Given the description of an element on the screen output the (x, y) to click on. 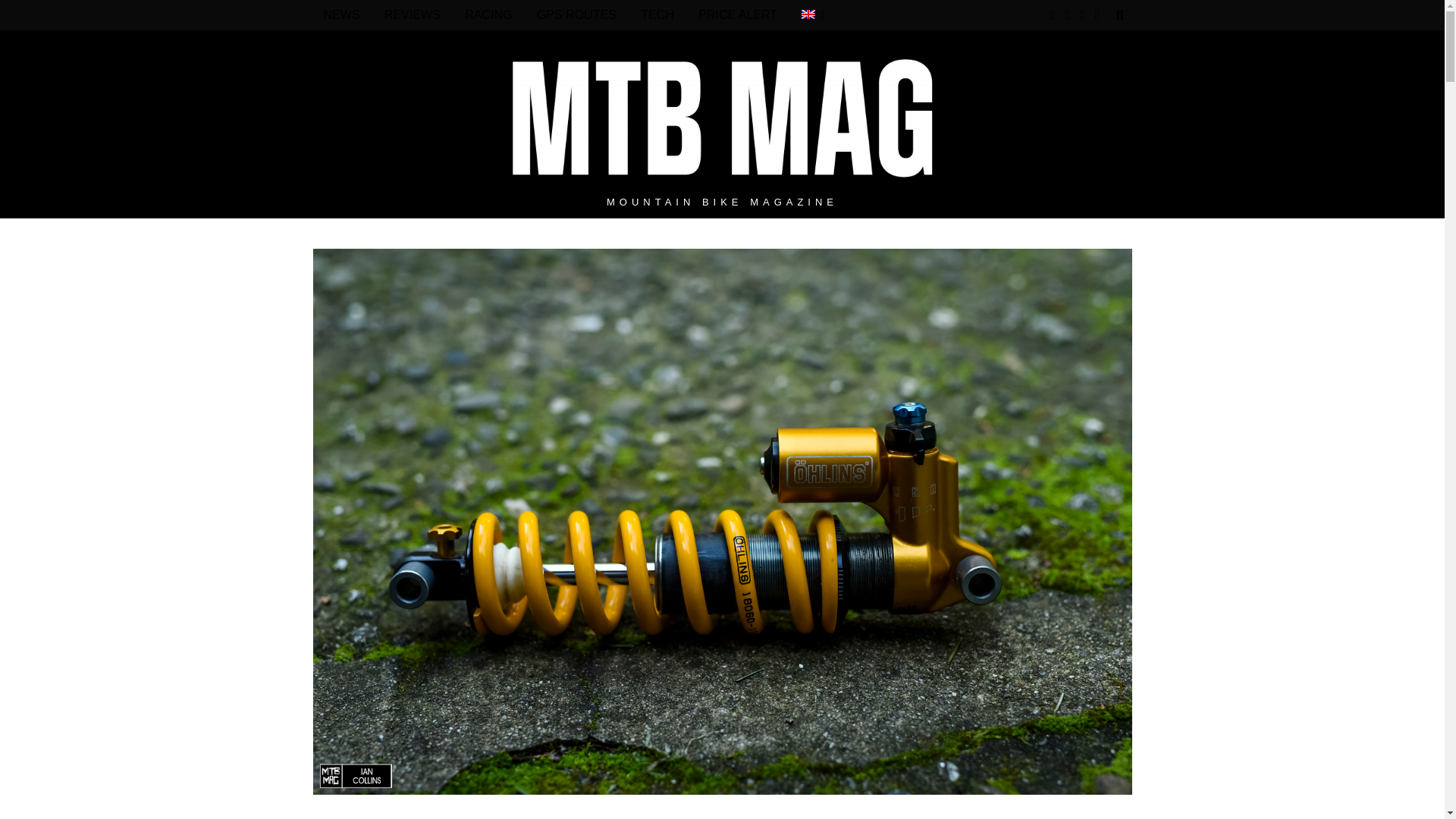
GPS ROUTES (576, 15)
PRICE ALERT (737, 15)
TECH (657, 15)
REVIEWS (412, 15)
NEWS (341, 15)
RACING (488, 15)
